Given the description of an element on the screen output the (x, y) to click on. 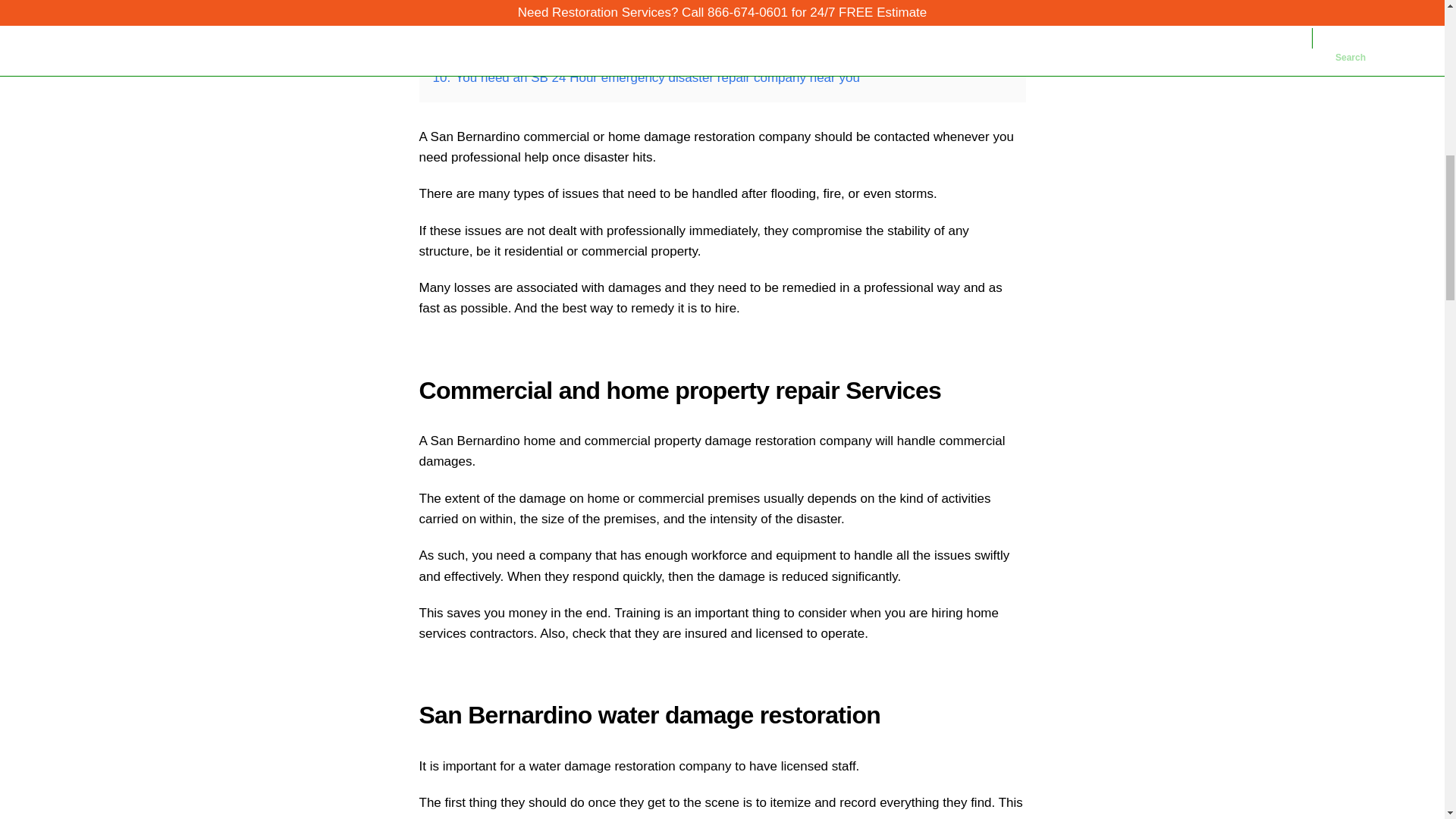
8. Cost (453, 33)
7. Smoke damage restoration (517, 11)
